Given the description of an element on the screen output the (x, y) to click on. 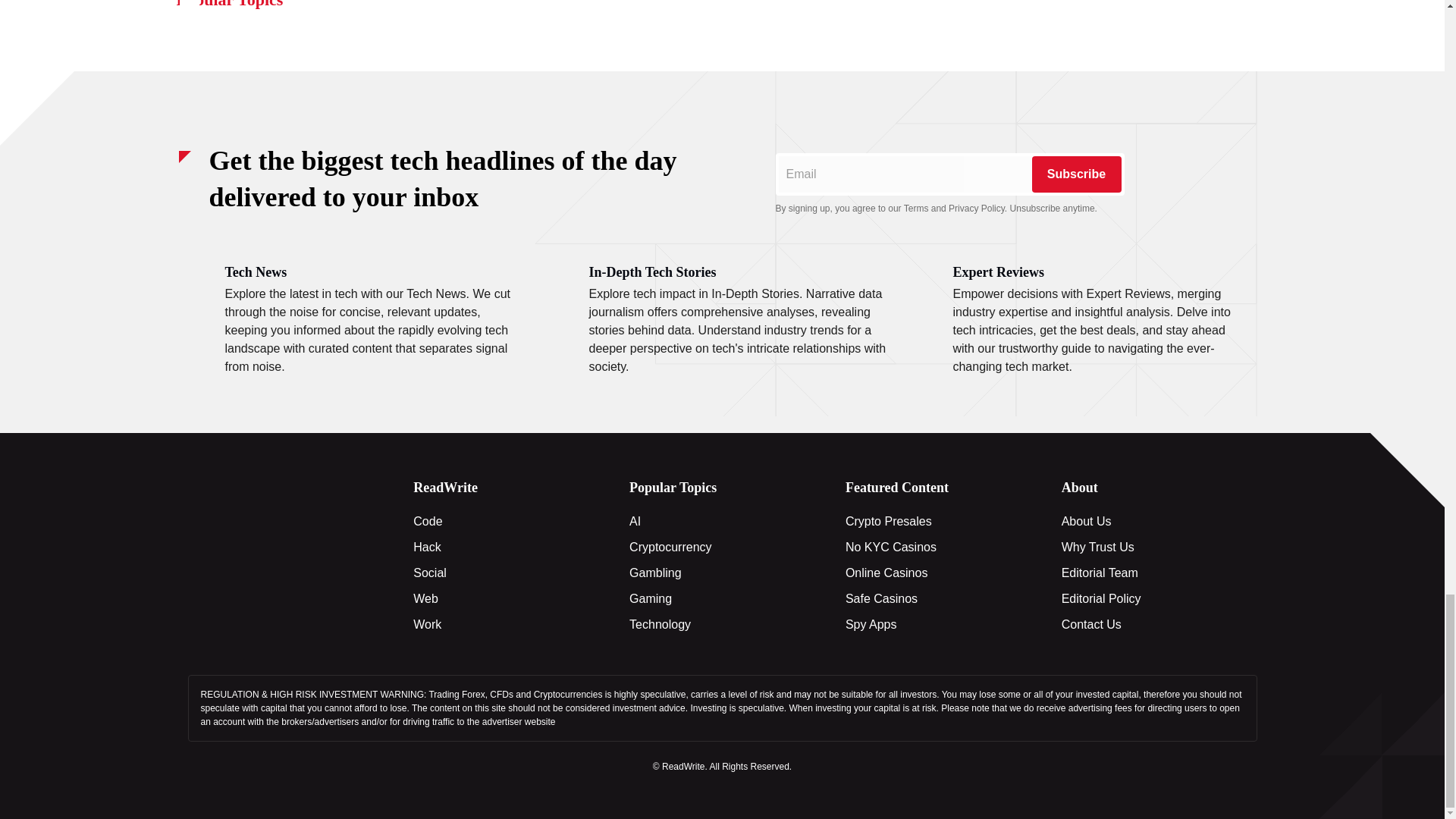
Subscribe (1075, 174)
